Given the description of an element on the screen output the (x, y) to click on. 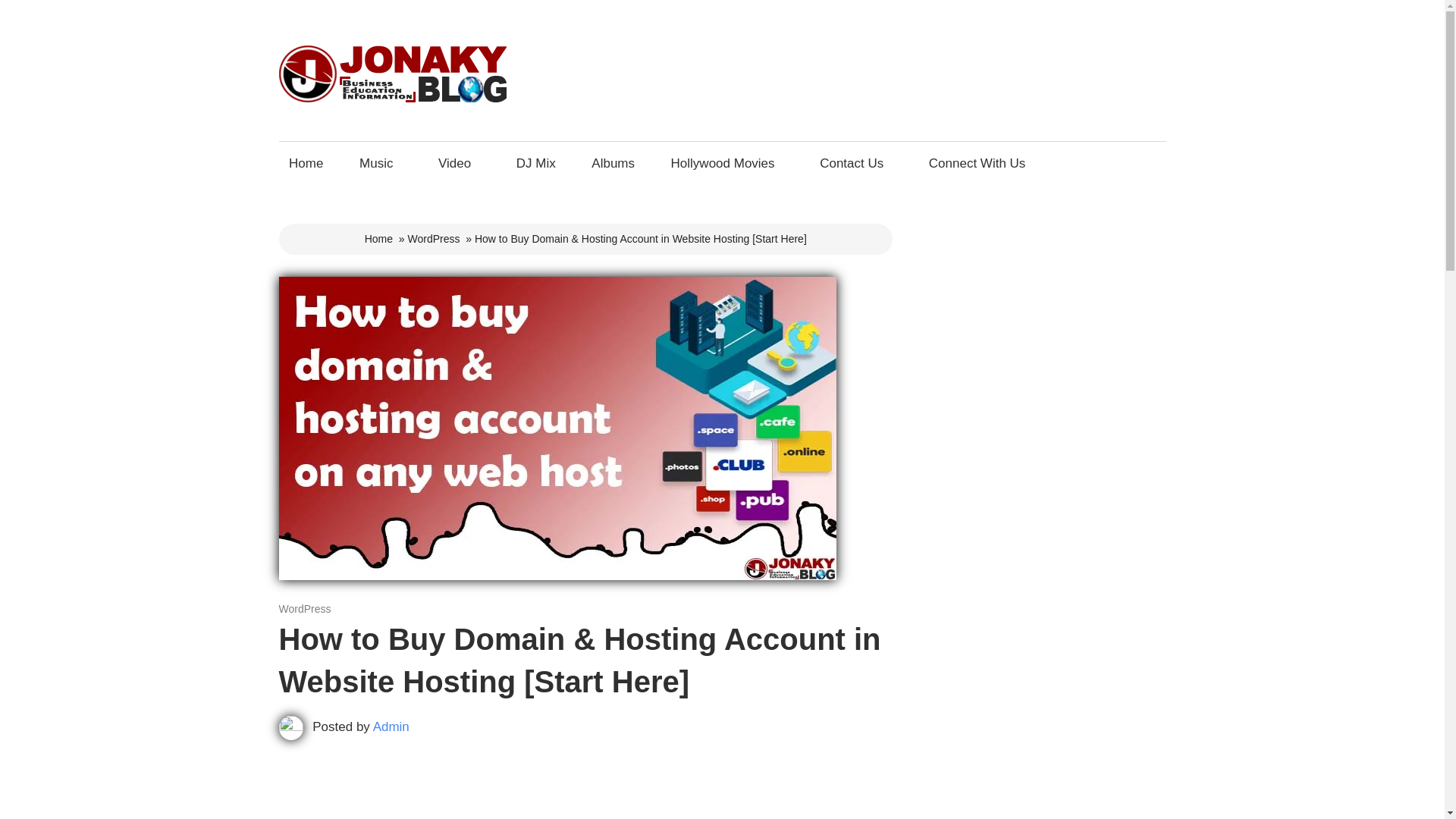
Home (306, 162)
WordPress (433, 238)
Hollywood Movies (727, 162)
Video (458, 162)
Albums (612, 162)
Go to Home. (379, 238)
WordPress (305, 608)
March 9, 2023 (313, 608)
Contact Us (855, 162)
Admin (390, 726)
